Given the description of an element on the screen output the (x, y) to click on. 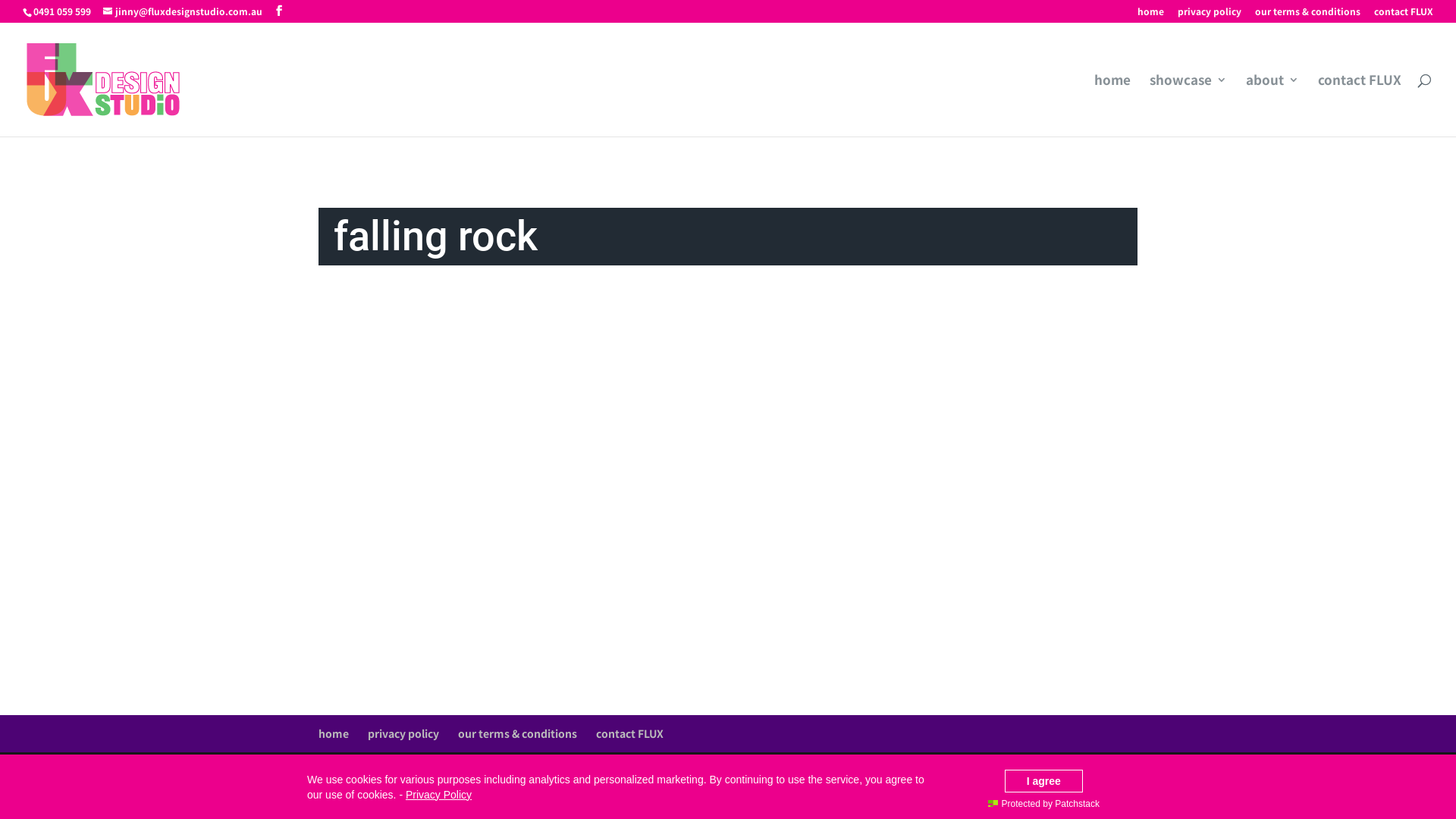
home Element type: text (333, 732)
contact FLUX Element type: text (1359, 105)
our terms & conditions Element type: text (1307, 14)
about Element type: text (1272, 105)
home Element type: text (1150, 14)
jinny@fluxdesignstudio.com.au Element type: text (182, 10)
privacy policy Element type: text (1209, 14)
Protected by Patchstack Element type: text (1043, 803)
privacy policy Element type: text (403, 732)
home Element type: text (1112, 105)
showcase Element type: text (1187, 105)
contact FLUX Element type: text (1403, 14)
FLUX Design Studio (naturally) Element type: text (613, 770)
I agree Element type: text (1043, 780)
Privacy Policy Element type: text (438, 794)
our terms & conditions Element type: text (517, 732)
contact FLUX Element type: text (629, 732)
